Given the description of an element on the screen output the (x, y) to click on. 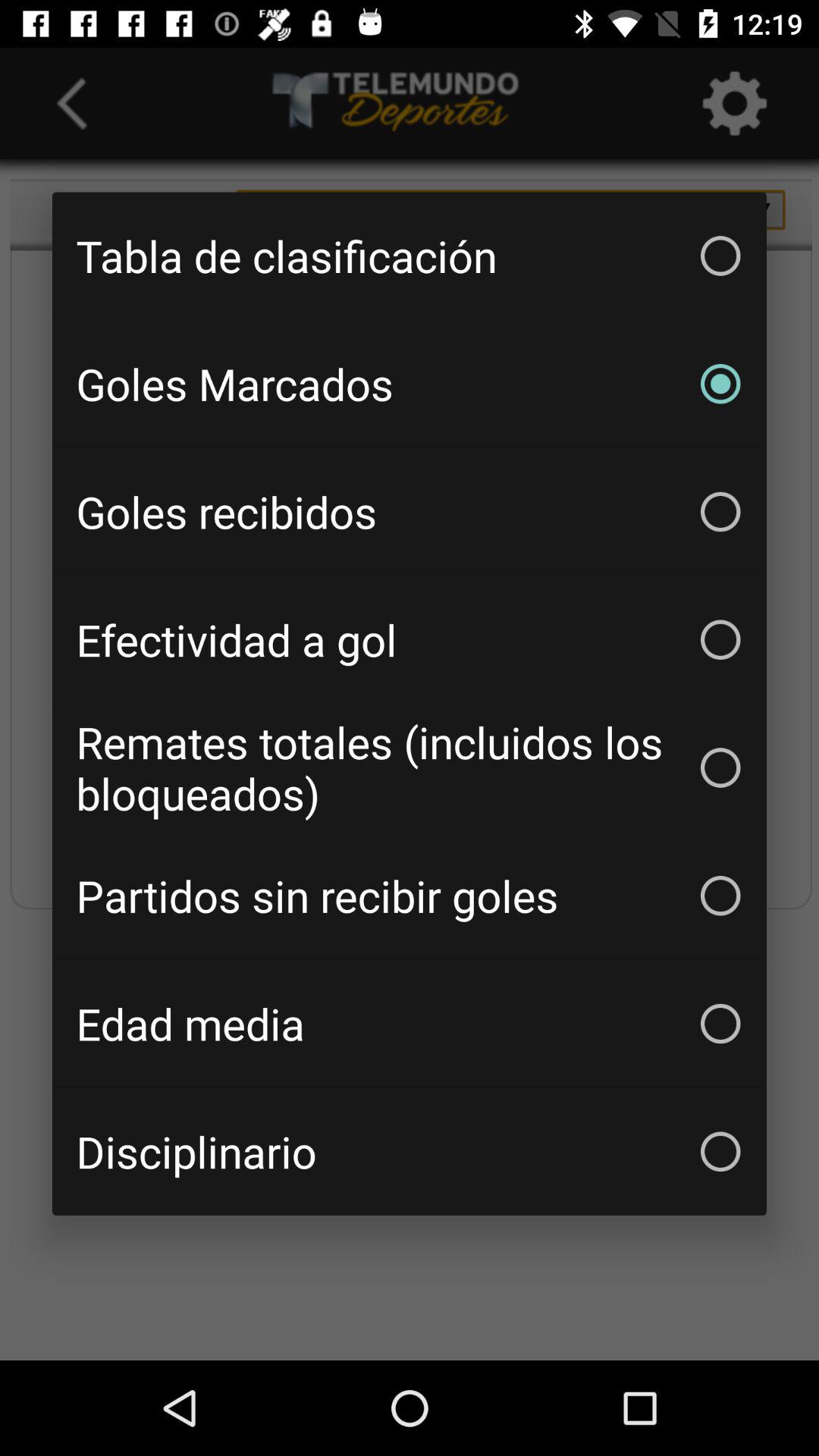
swipe to disciplinario icon (409, 1151)
